Given the description of an element on the screen output the (x, y) to click on. 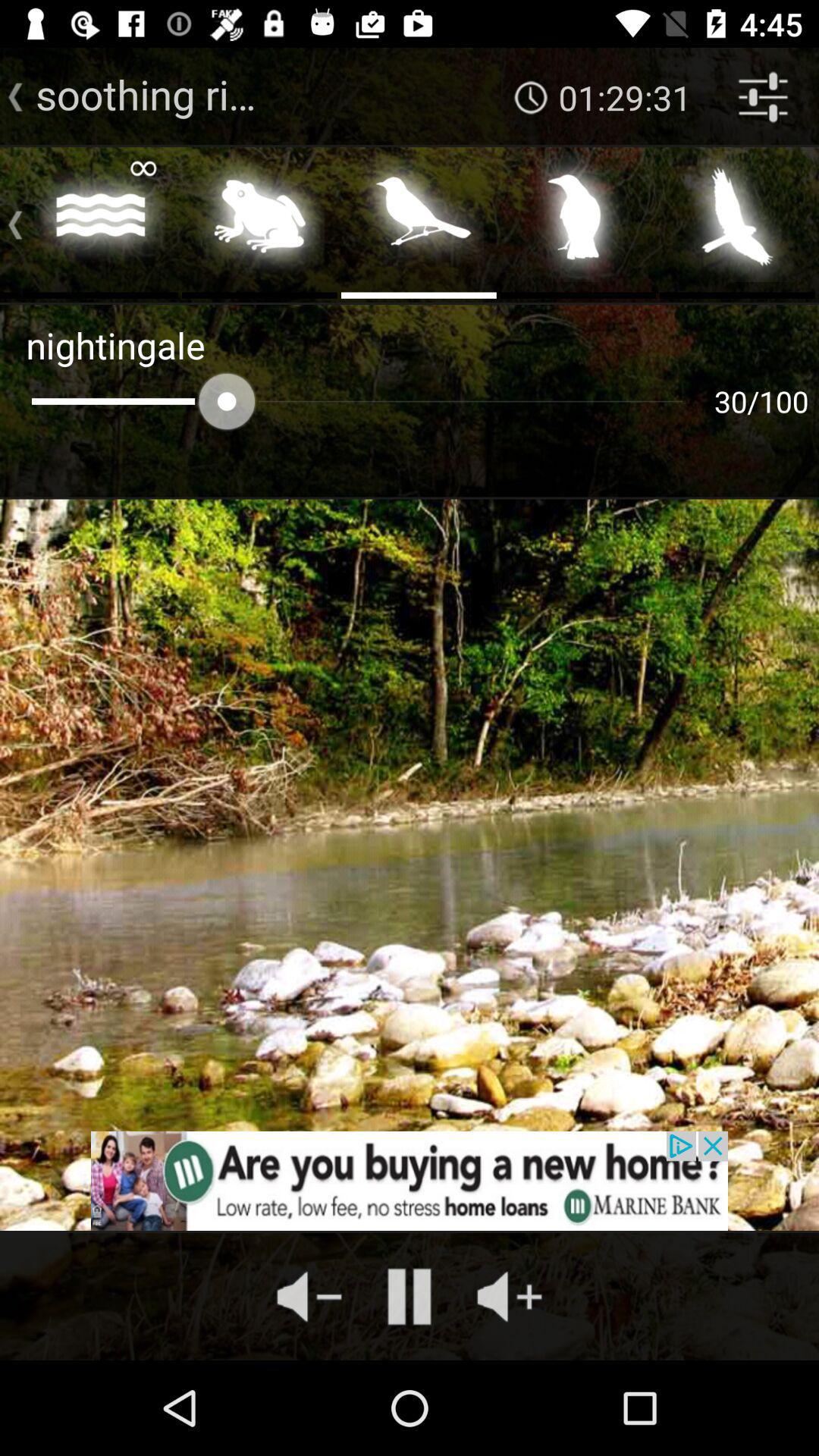
choose the eagle bird (737, 221)
